Given the description of an element on the screen output the (x, y) to click on. 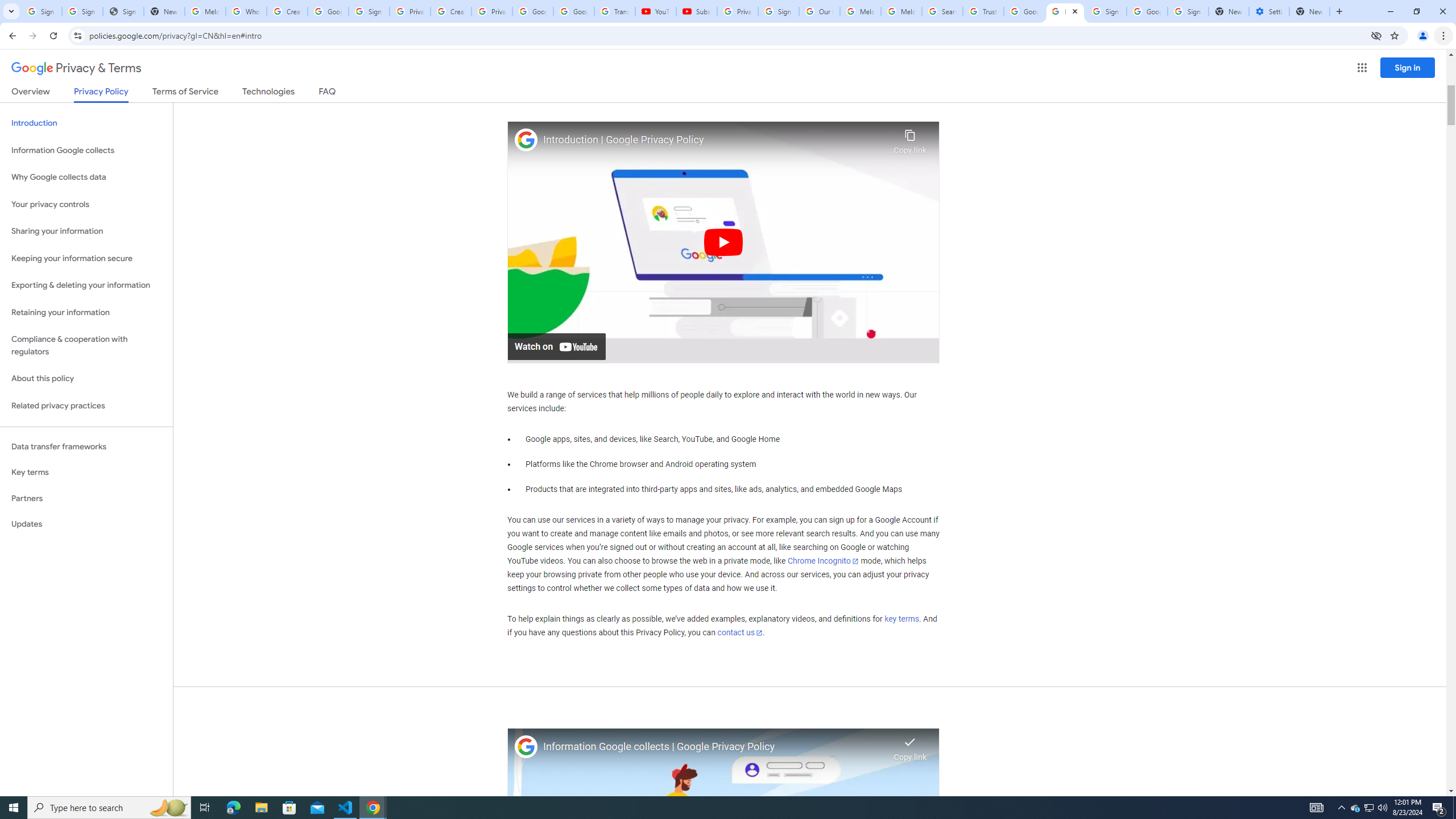
Google Cybersecurity Innovations - Google Safety Center (1146, 11)
Information Google collects | Google Privacy Policy (715, 747)
Exporting & deleting your information (86, 284)
New Tab (1309, 11)
contact us (739, 633)
YouTube (655, 11)
Chrome Incognito (823, 561)
Link copied to clipboard (909, 745)
